Given the description of an element on the screen output the (x, y) to click on. 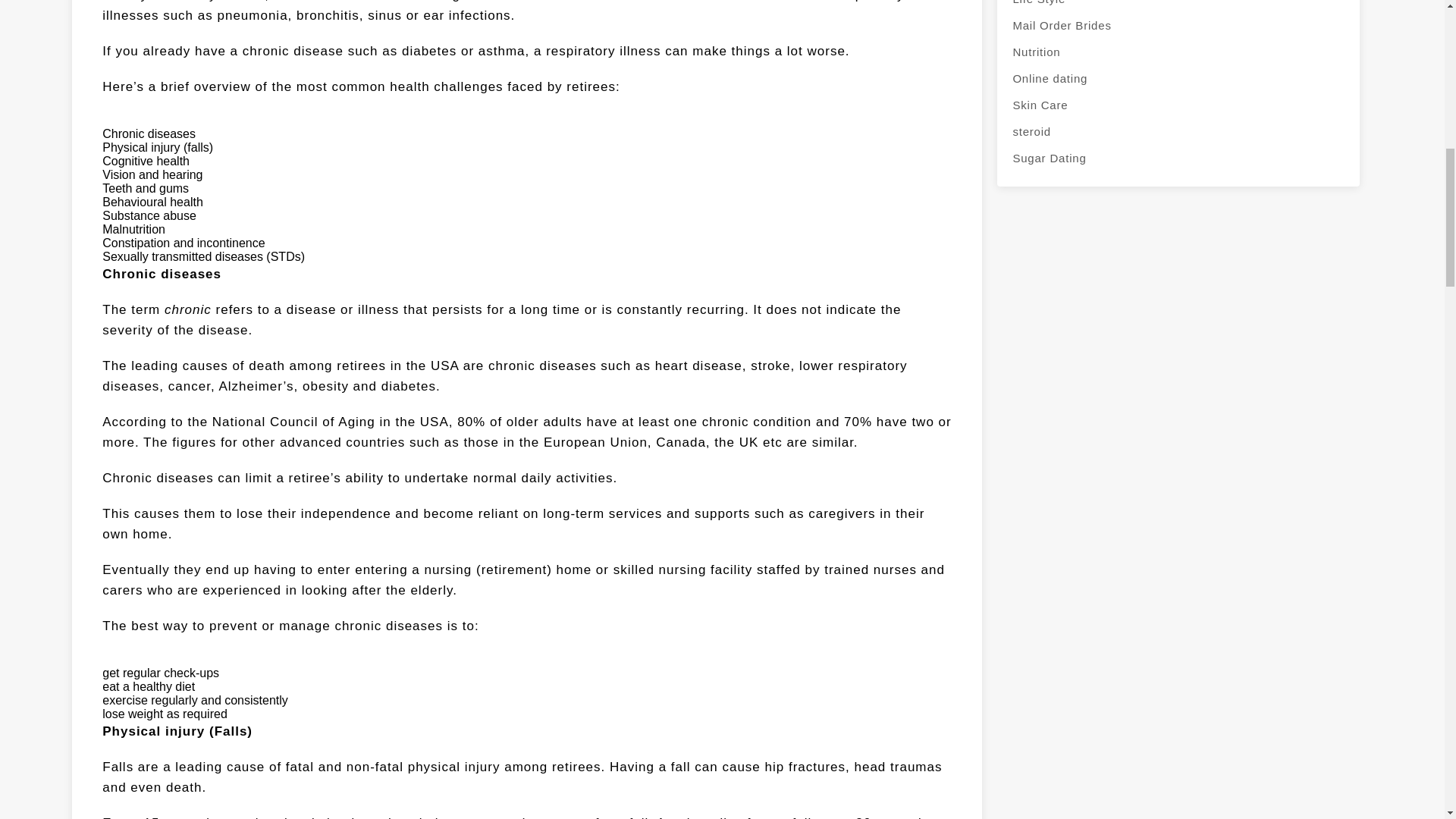
Skin Care (1177, 104)
Life Style (1177, 6)
Nutrition (1177, 51)
Mail Order Brides (1177, 25)
Online dating (1177, 78)
